Given the description of an element on the screen output the (x, y) to click on. 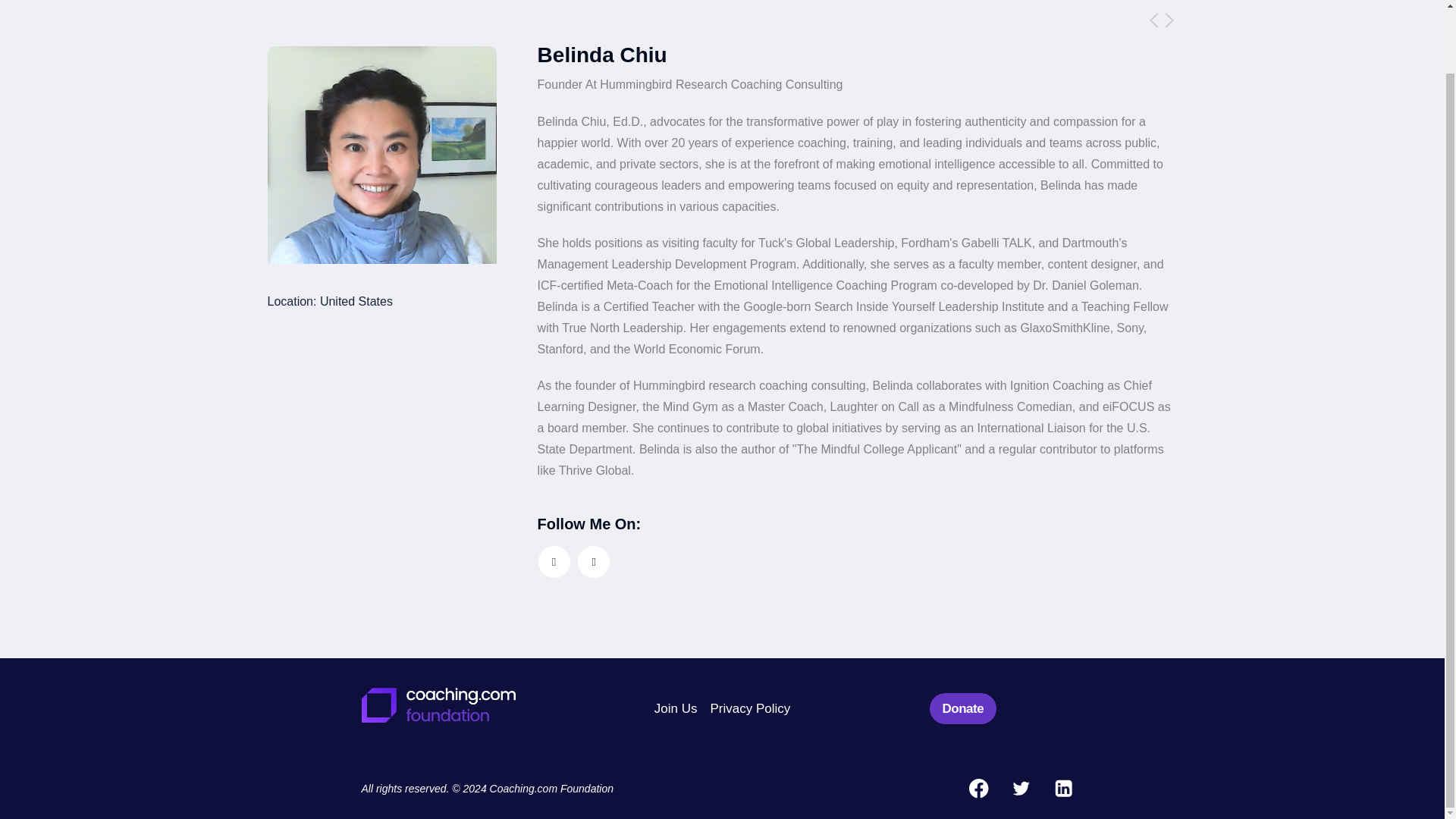
Join Us (675, 707)
Privacy Policy (749, 707)
Donate (963, 707)
